Given the description of an element on the screen output the (x, y) to click on. 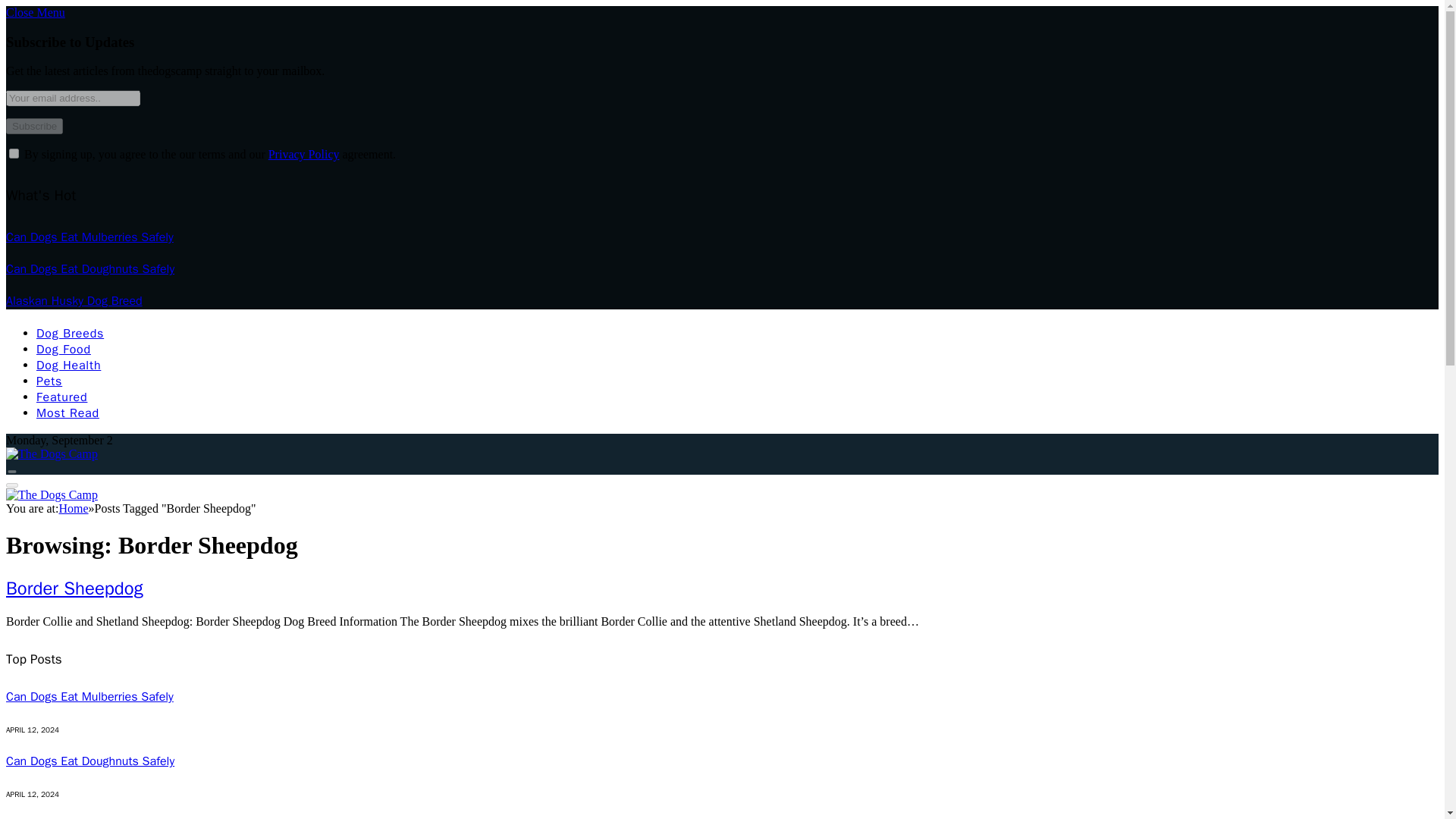
Featured (61, 396)
Dog Breeds (69, 333)
Can Dogs Eat Mulberries Safely (89, 237)
Close Menu (35, 11)
Border Sheepdog (73, 588)
Home (72, 508)
Can Dogs Eat Doughnuts Safely (89, 761)
Privacy Policy (303, 154)
Pets (49, 381)
Can Dogs Eat Doughnuts Safely (89, 268)
